Given the description of an element on the screen output the (x, y) to click on. 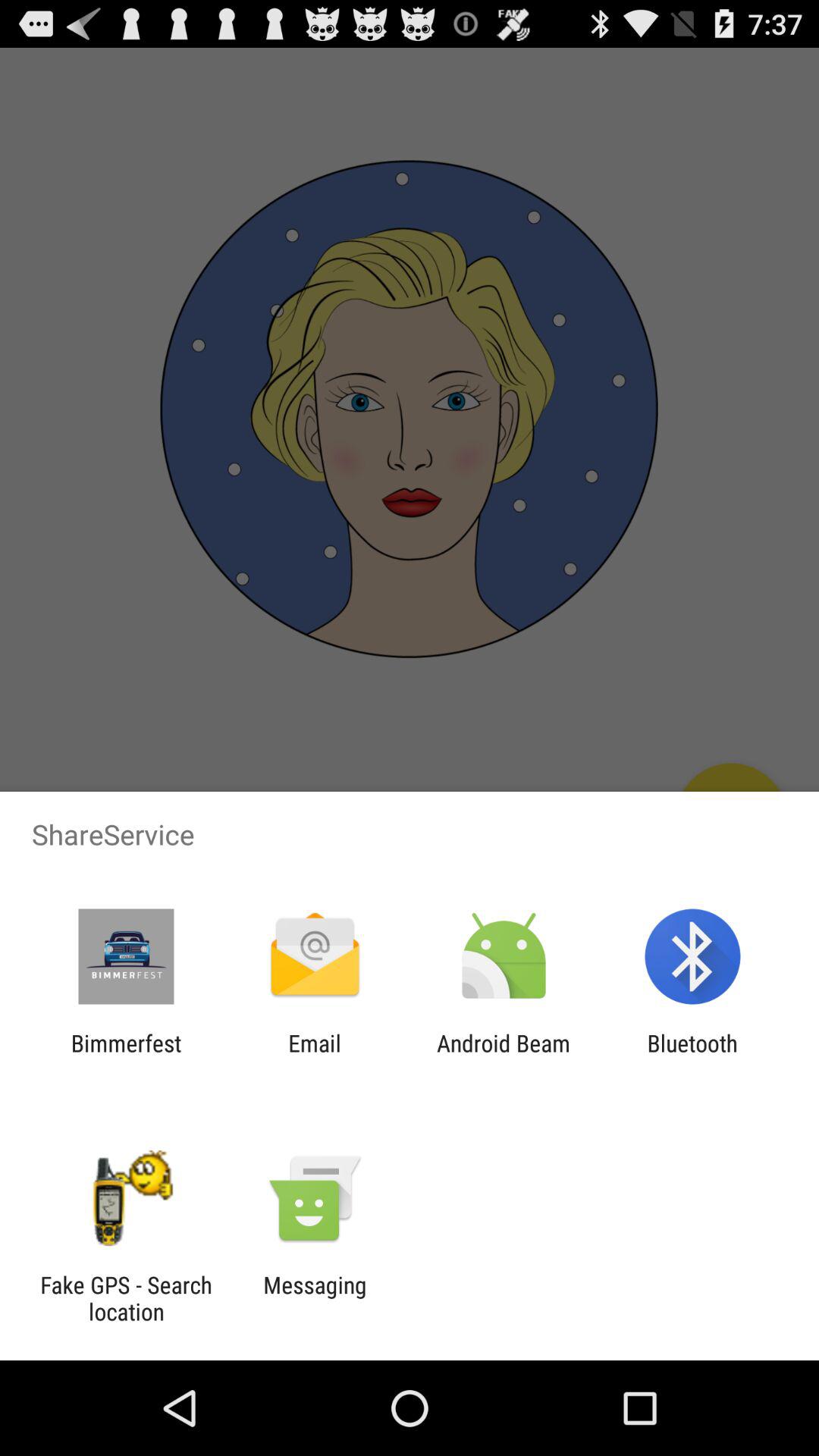
launch the icon at the bottom right corner (692, 1056)
